Given the description of an element on the screen output the (x, y) to click on. 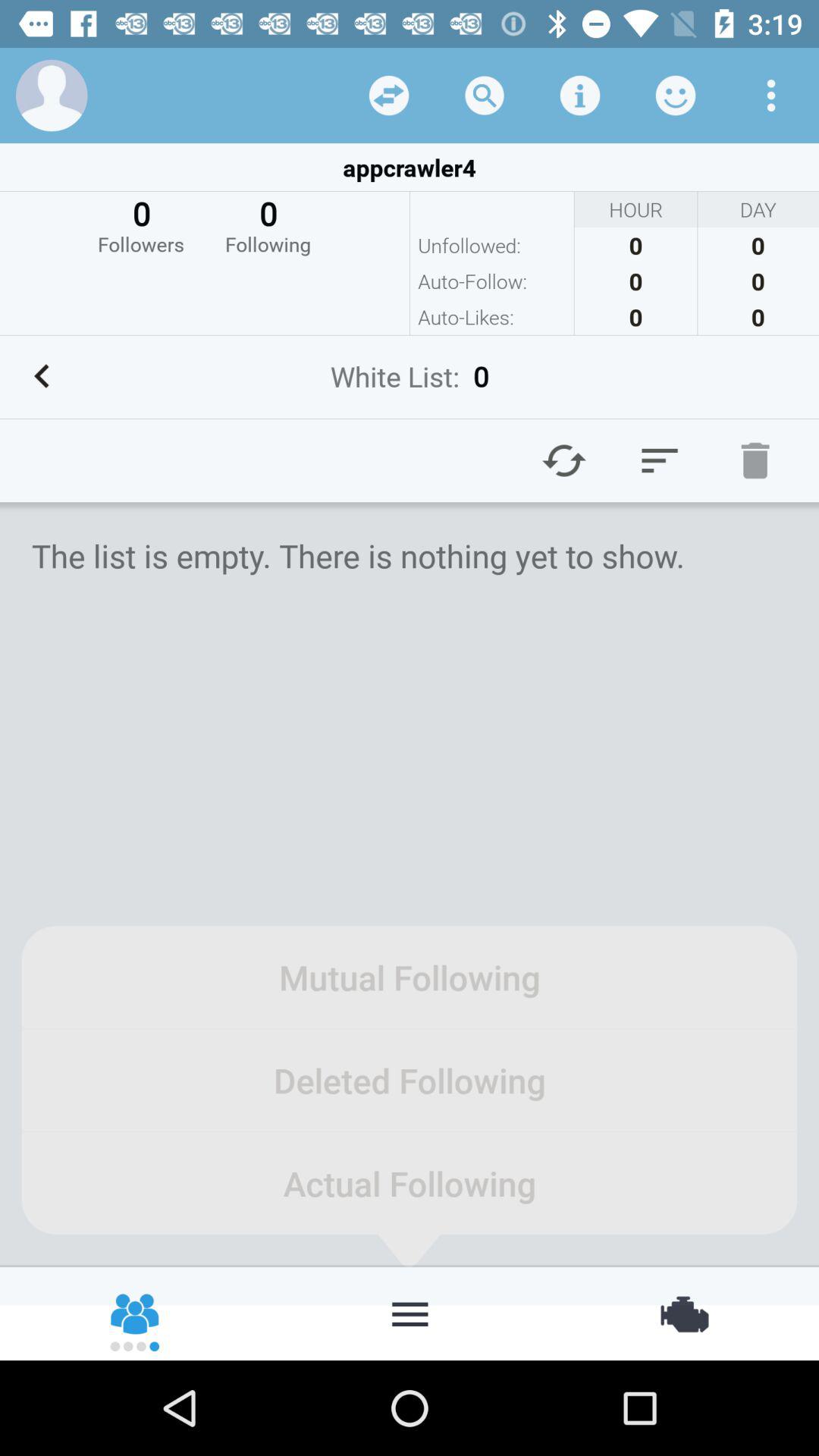
go refresh (563, 460)
